Given the description of an element on the screen output the (x, y) to click on. 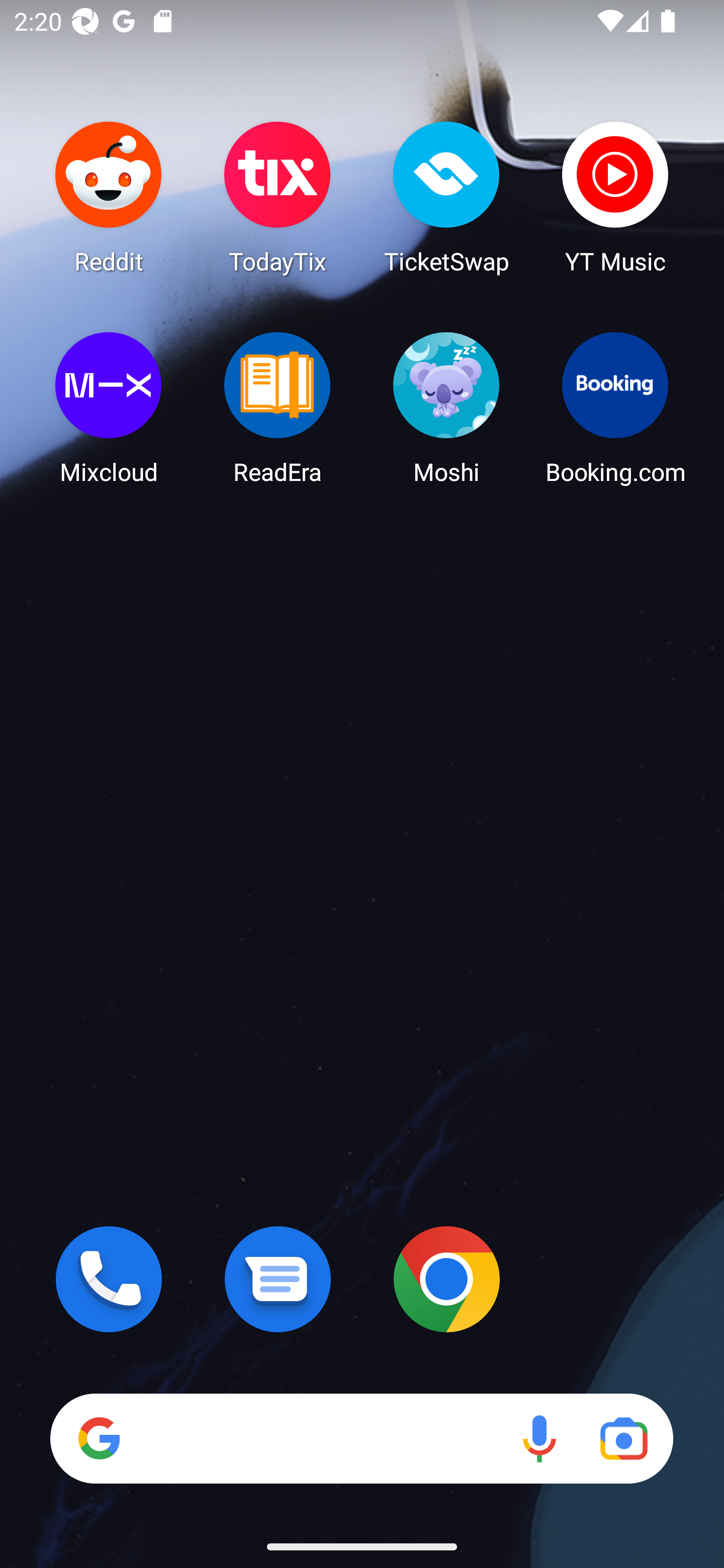
Reddit (108, 196)
TodayTix (277, 196)
TicketSwap (445, 196)
YT Music (615, 196)
Mixcloud (108, 407)
ReadEra (277, 407)
Moshi (445, 407)
Booking.com (615, 407)
Phone (108, 1279)
Messages (277, 1279)
Chrome (446, 1279)
Search Voice search Google Lens (361, 1438)
Voice search (539, 1438)
Google Lens (623, 1438)
